Given the description of an element on the screen output the (x, y) to click on. 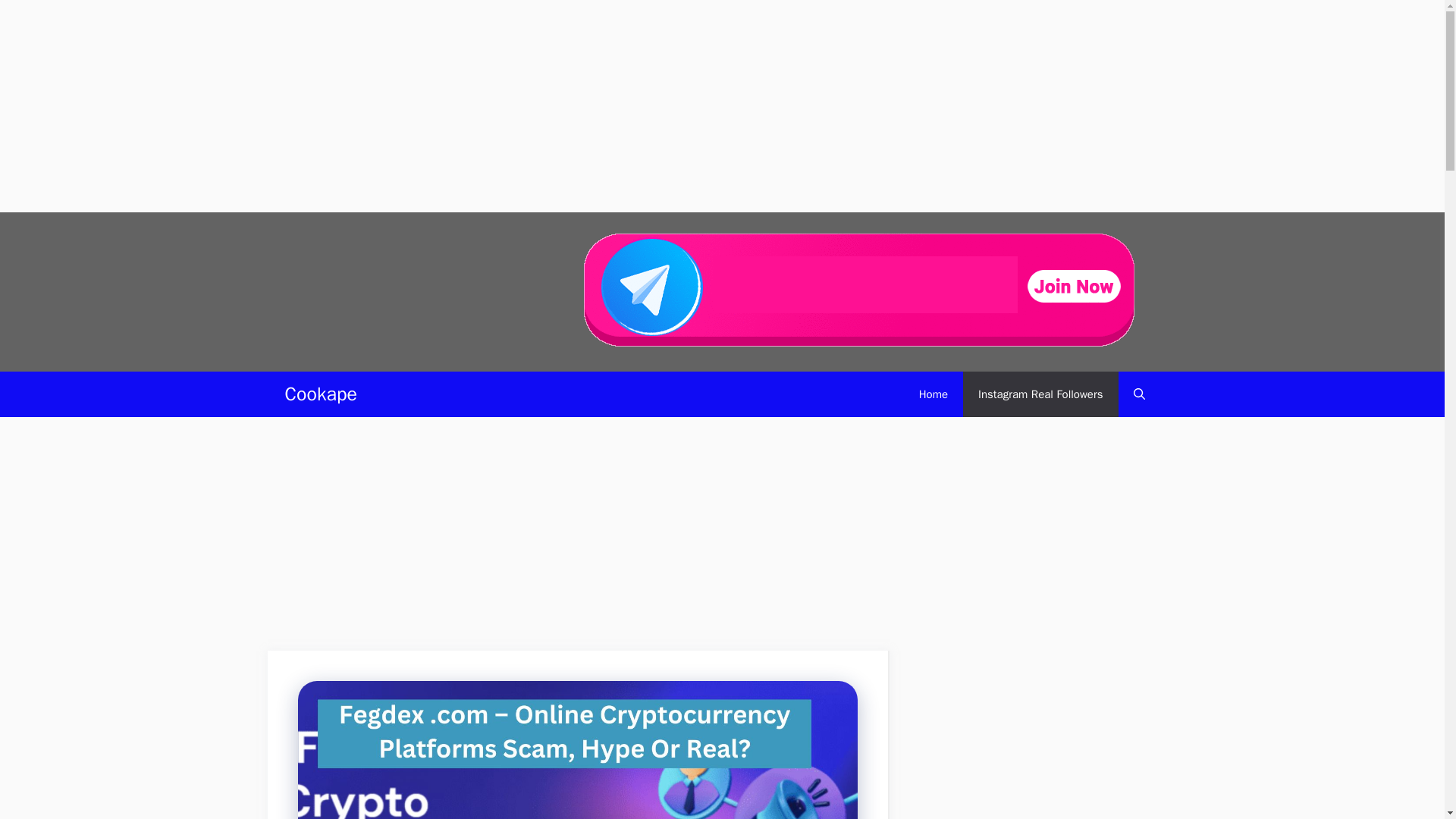
Cookape (320, 393)
Home (933, 393)
Instagram Real Followers (1040, 393)
Advertisement (577, 538)
